Given the description of an element on the screen output the (x, y) to click on. 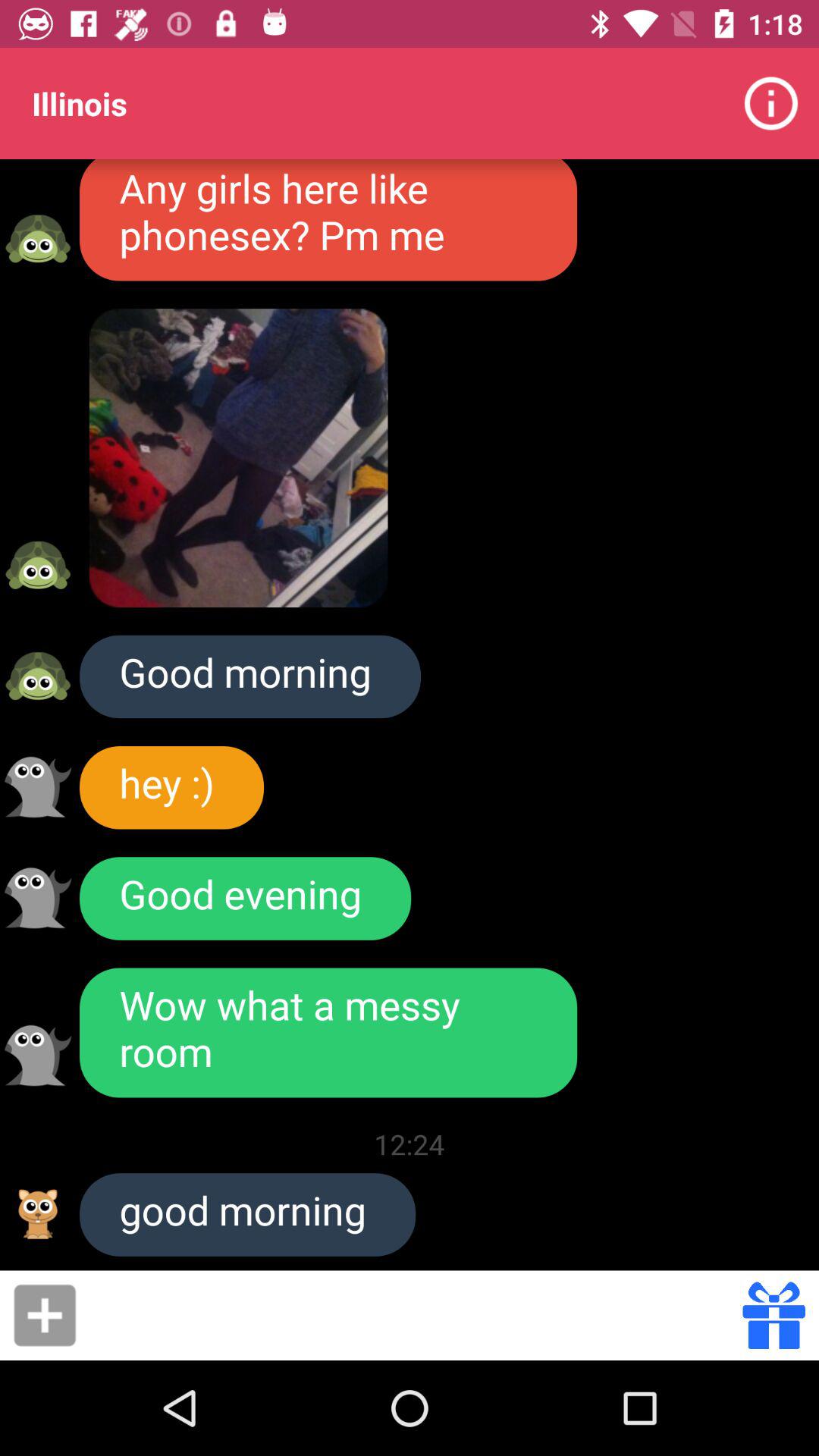
user avatar (38, 238)
